Given the description of an element on the screen output the (x, y) to click on. 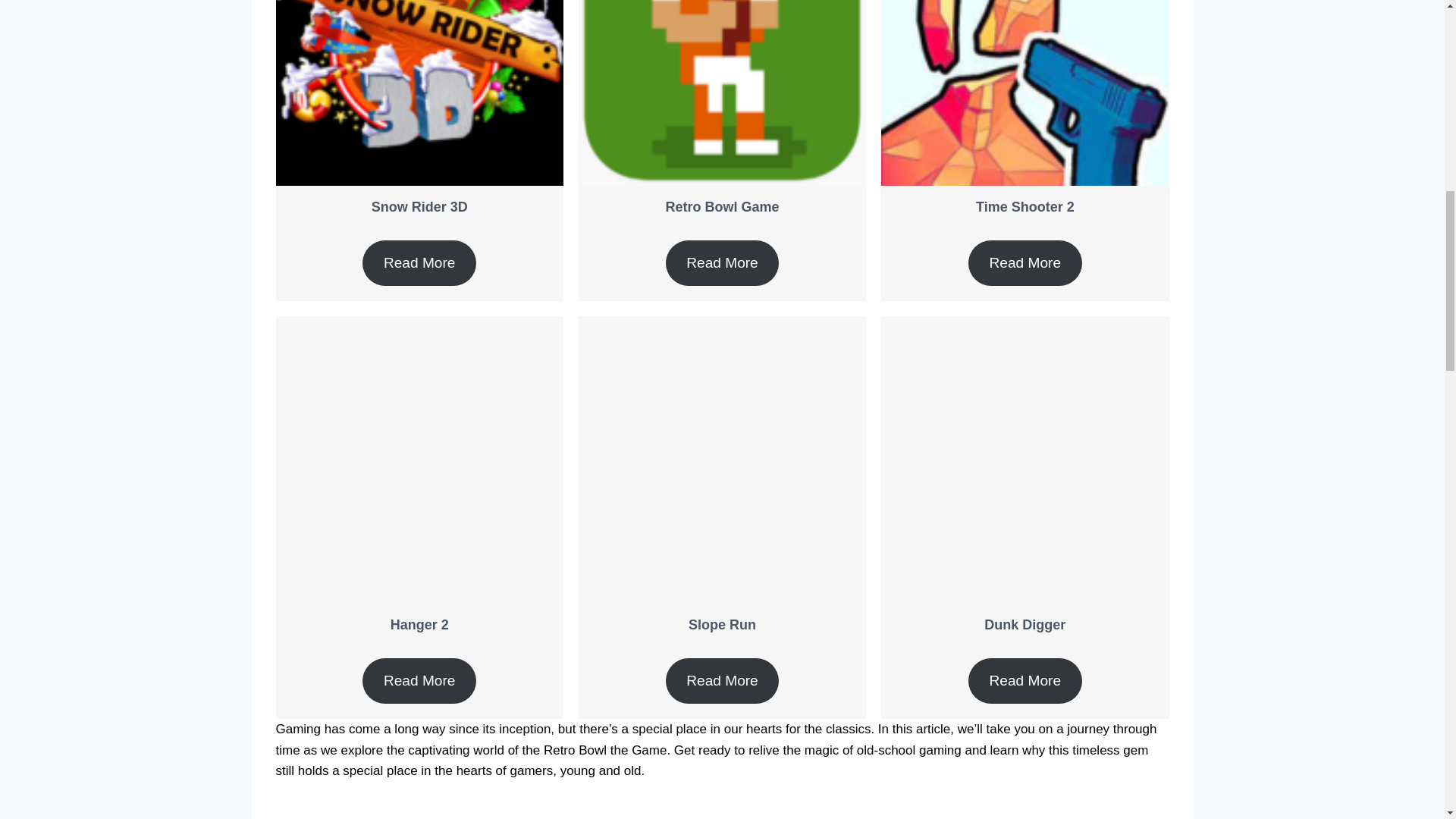
Read More (419, 262)
Read More (1024, 680)
Read More (721, 680)
Retro Bowl Game (721, 206)
Snow Rider 3D (419, 206)
Time Shooter 2 (1024, 206)
Hanger 2 (419, 624)
Dunk Digger (1024, 624)
Read More (721, 262)
Read More (1024, 262)
Read More (419, 680)
Slope Run (721, 624)
